Given the description of an element on the screen output the (x, y) to click on. 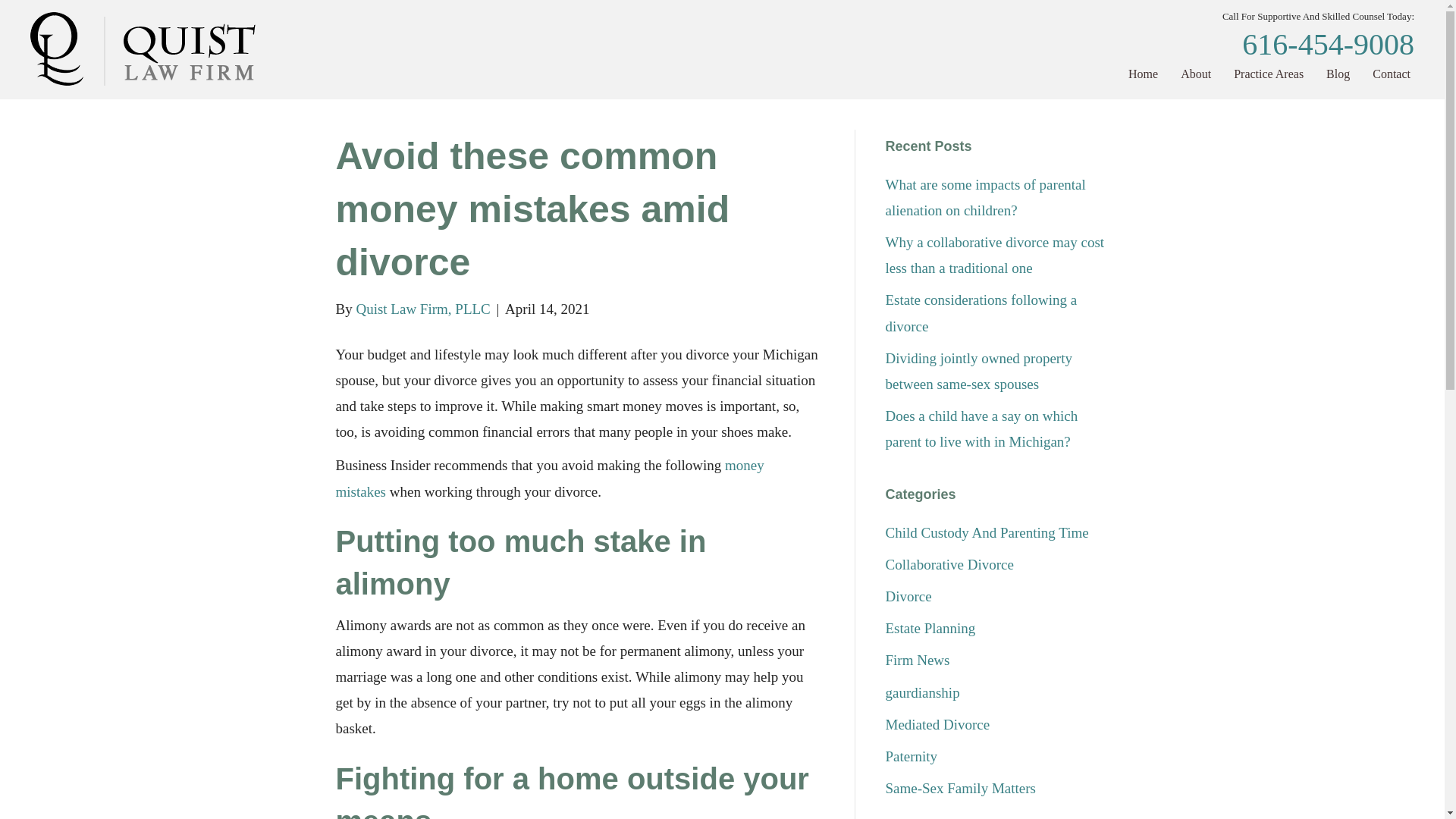
Contact (1391, 73)
Dividing jointly owned property between same-sex spouses (978, 371)
Divorce (908, 596)
money mistakes (548, 477)
Practice Areas (1268, 73)
616-454-9008 (1327, 44)
Child Custody And Parenting Time (987, 532)
About (1195, 73)
gaurdianship (922, 692)
Home (1143, 73)
Blog (1337, 73)
Firm News (917, 659)
Collaborative Divorce (949, 564)
Estate considerations following a divorce (981, 312)
